Given the description of an element on the screen output the (x, y) to click on. 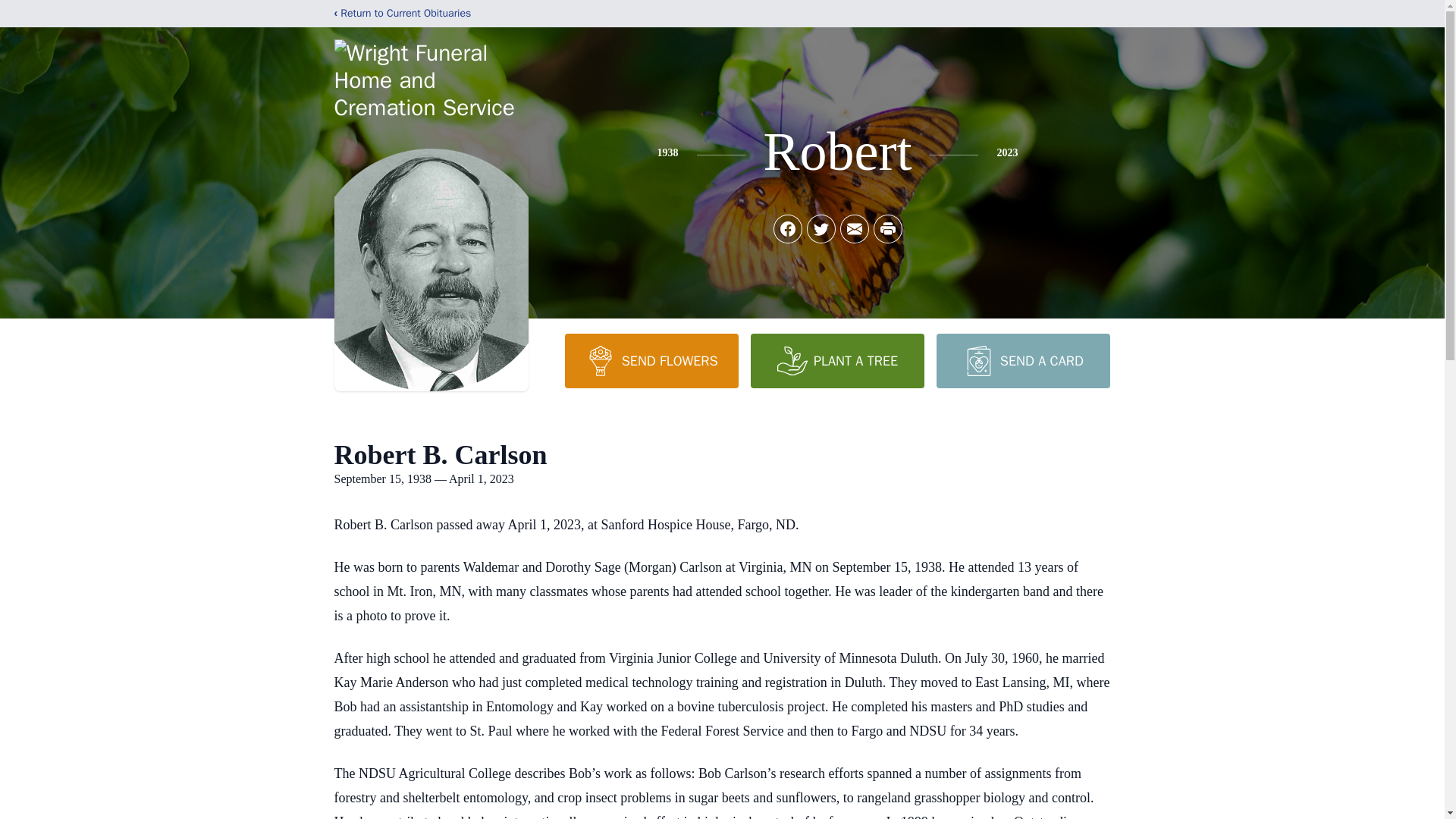
PLANT A TREE (837, 360)
SEND A CARD (1022, 360)
SEND FLOWERS (651, 360)
